Given the description of an element on the screen output the (x, y) to click on. 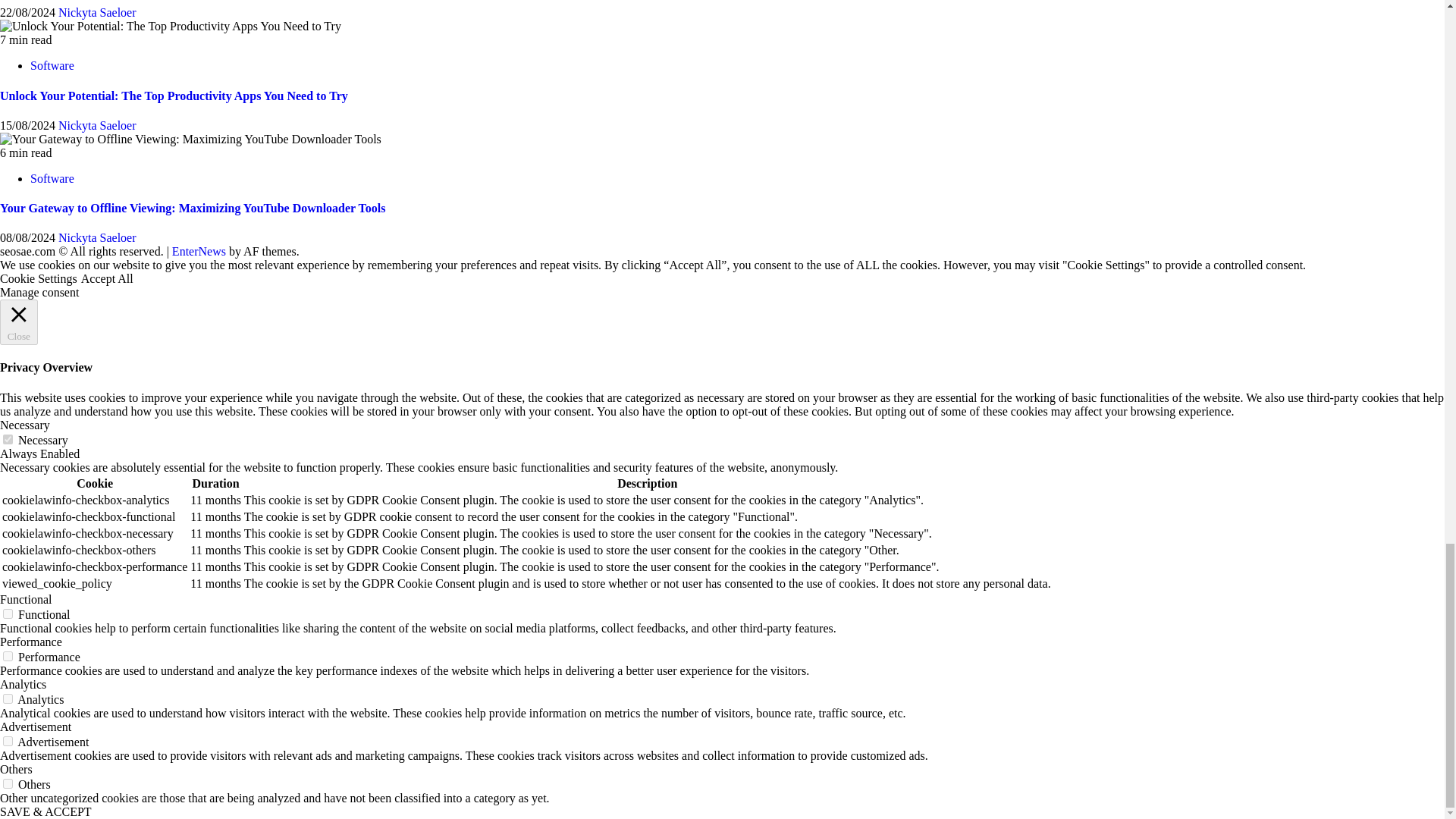
on (7, 655)
on (7, 698)
on (7, 741)
on (7, 614)
on (7, 439)
on (7, 783)
